Given the description of an element on the screen output the (x, y) to click on. 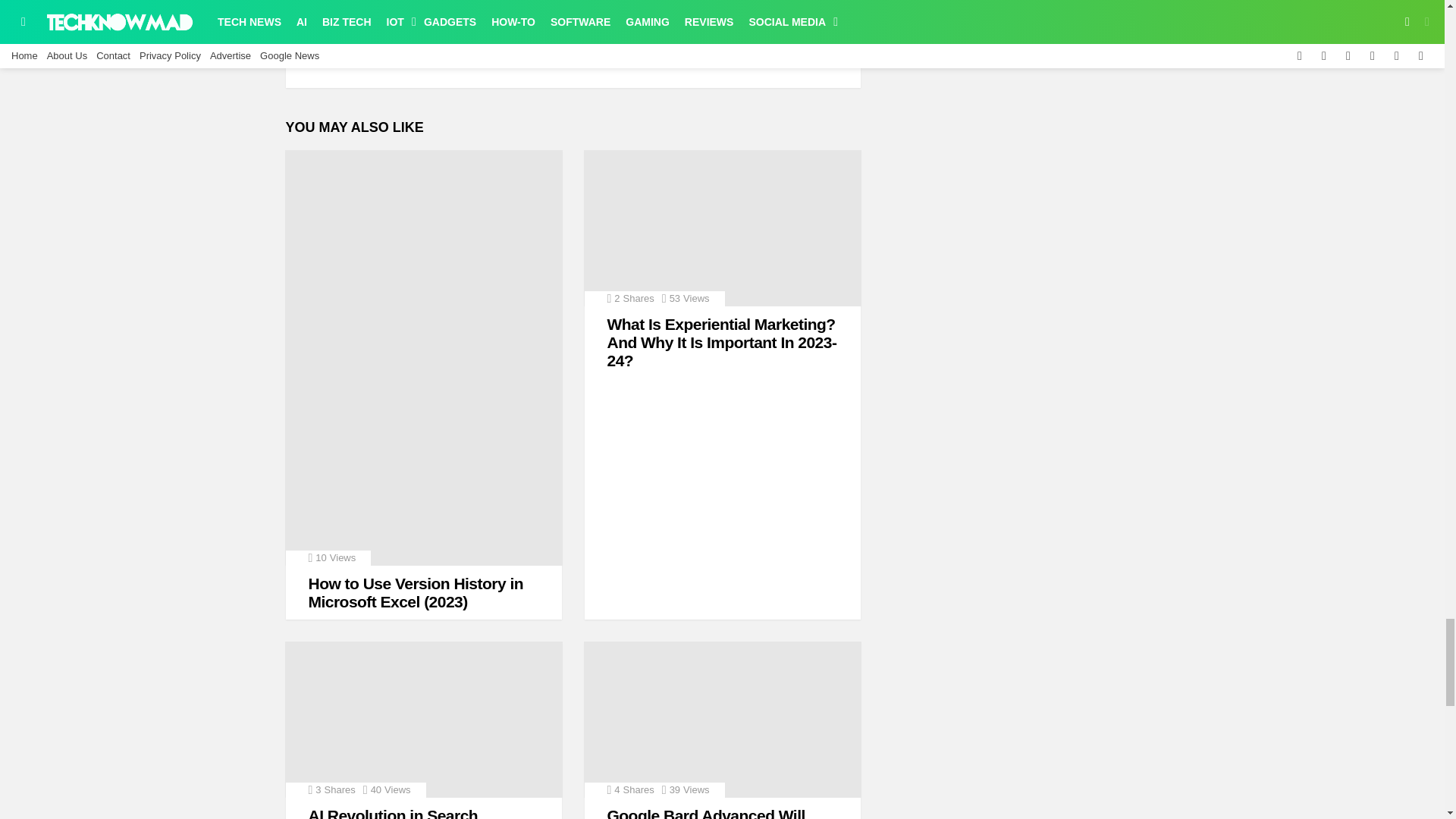
Google Bard Advanced Will Need Access to a Subscription (722, 719)
